Given the description of an element on the screen output the (x, y) to click on. 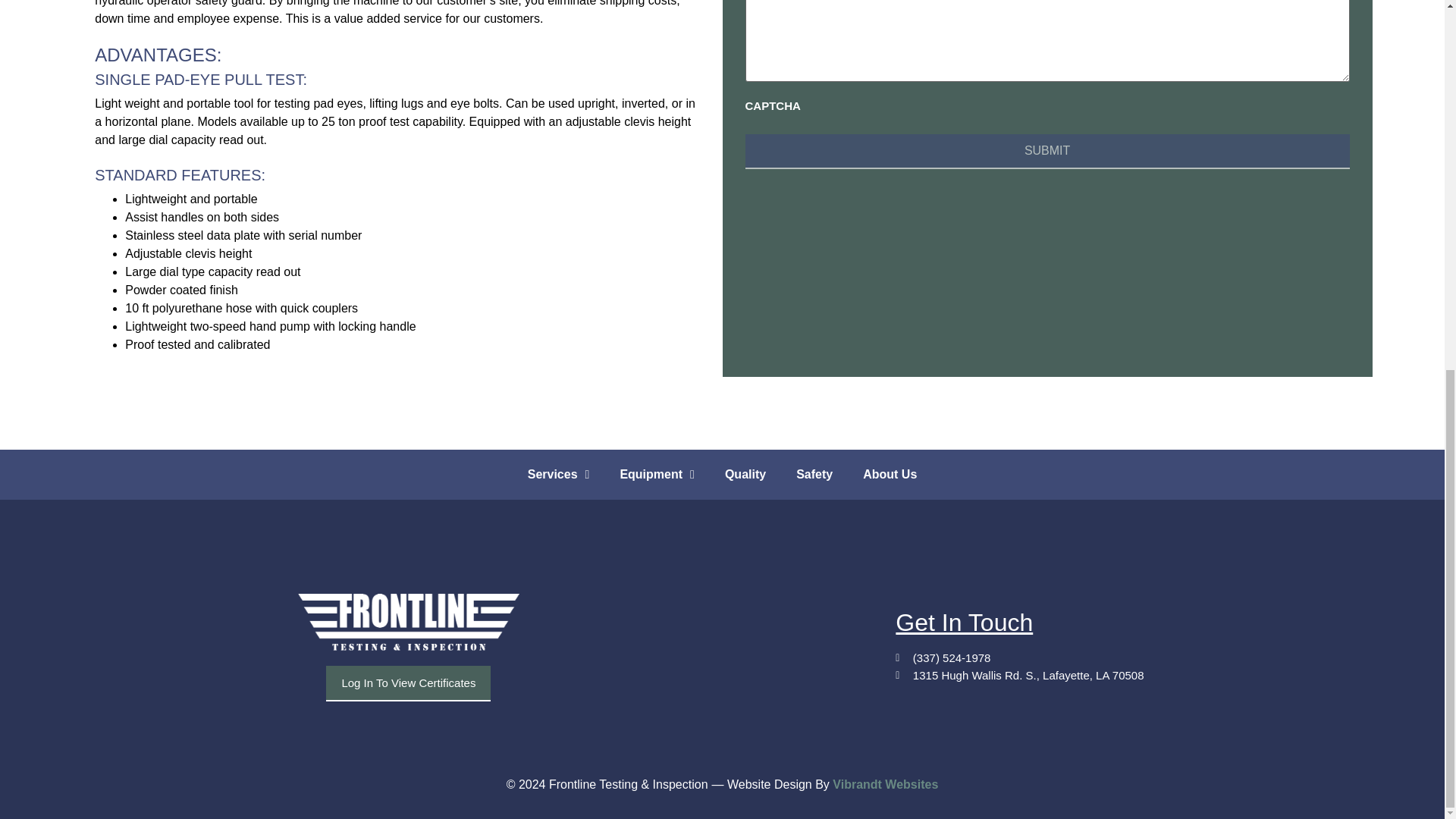
Submit (1046, 151)
Services (558, 474)
Submit (1046, 151)
Equipment (657, 474)
